Given the description of an element on the screen output the (x, y) to click on. 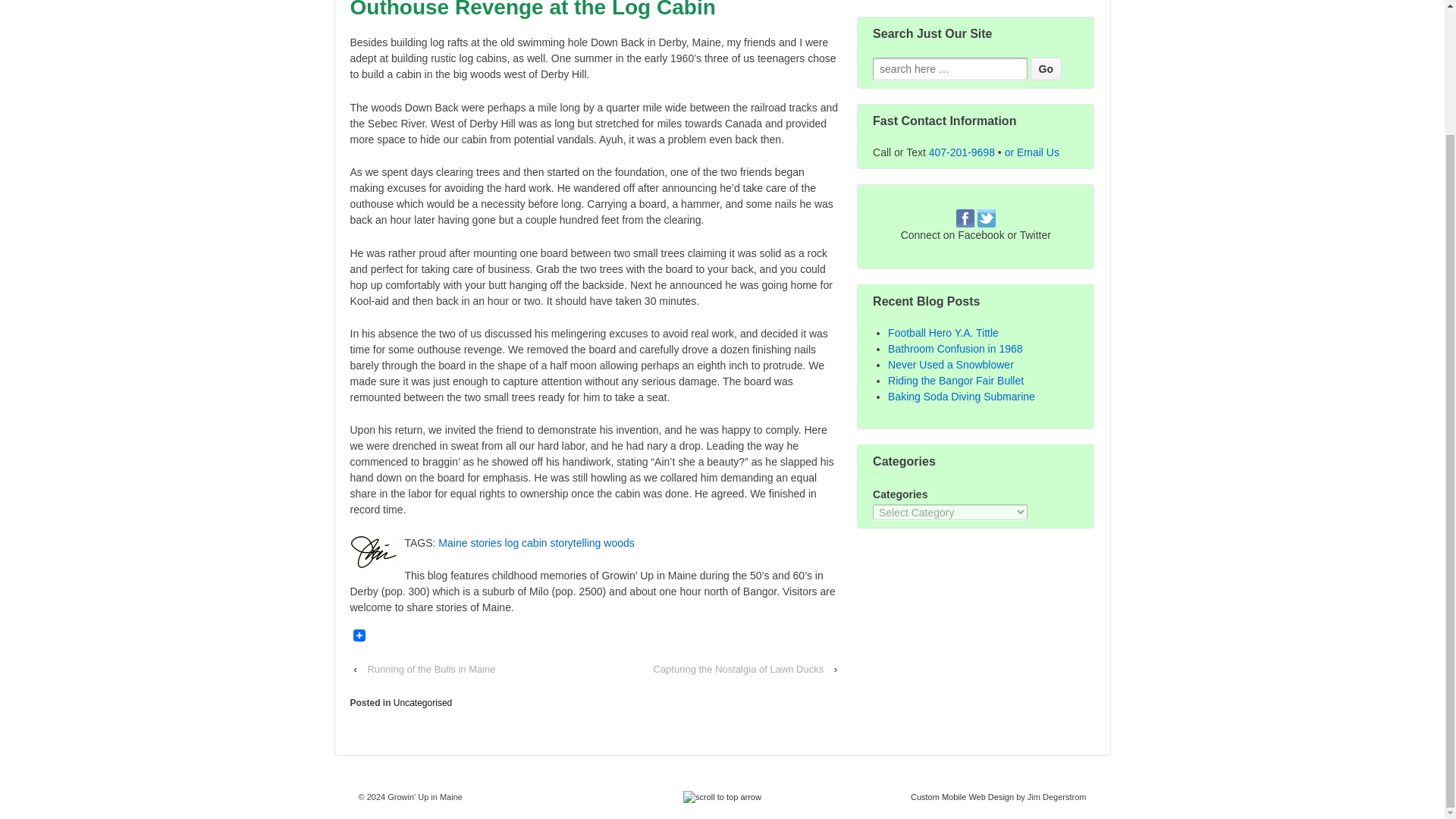
Never Used a Snowblower (950, 364)
Go (1045, 68)
or Email Us (1031, 152)
Capturing the Nostalgia of Lawn Ducks (738, 669)
Uncategorised (422, 702)
storytelling (574, 542)
Football Hero Y.A. Tittle (943, 332)
log cabin (526, 542)
Custom Mobile Web Design (962, 796)
Bathroom Confusion in 1968 (955, 348)
woods (618, 542)
Visit Us on Twitter (985, 218)
Baking Soda Diving Submarine (961, 396)
Like Our Facebook Page (965, 218)
Running of the Bulls in Maine (430, 669)
